Given the description of an element on the screen output the (x, y) to click on. 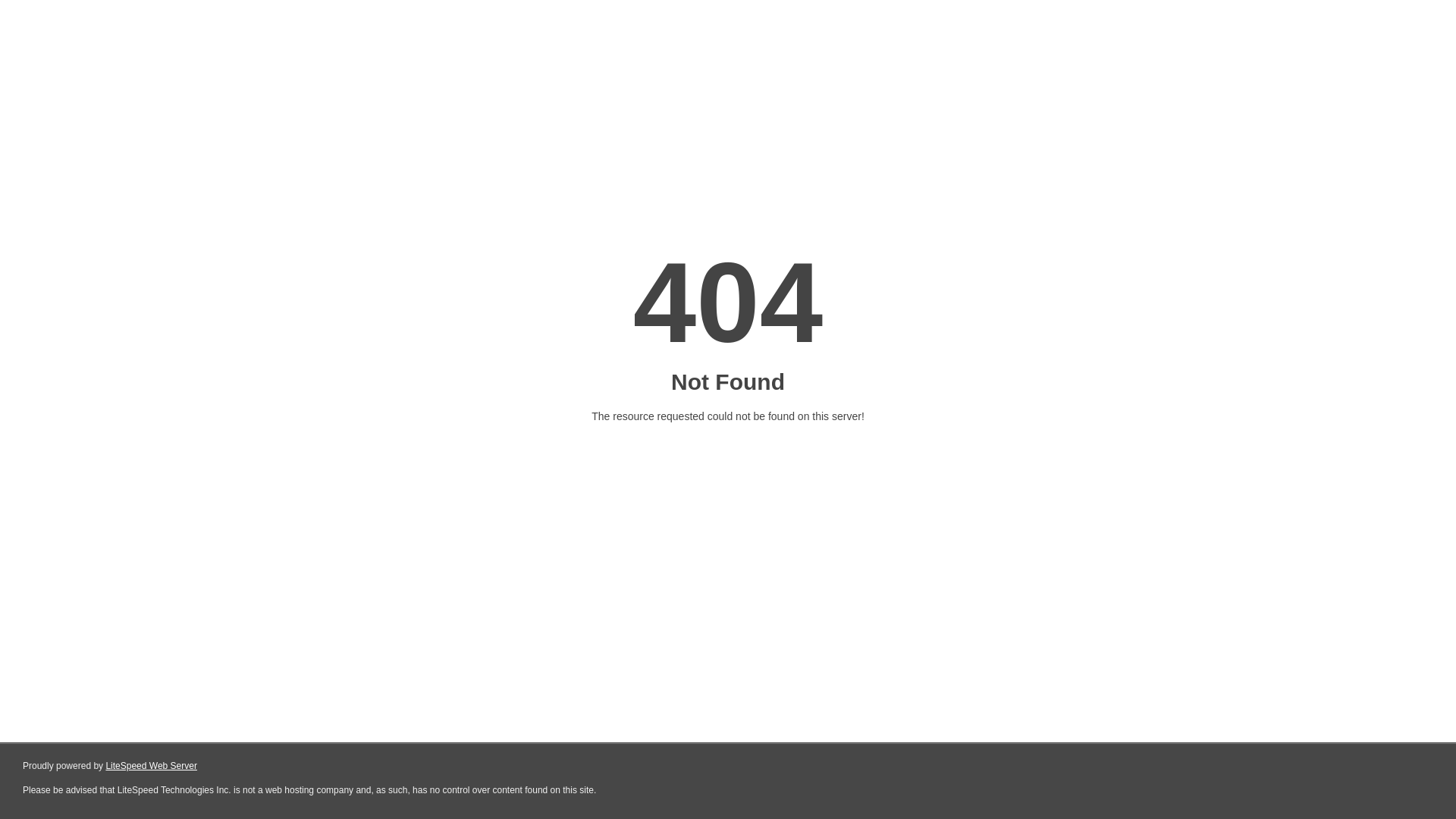
LiteSpeed Web Server Element type: text (151, 765)
